Given the description of an element on the screen output the (x, y) to click on. 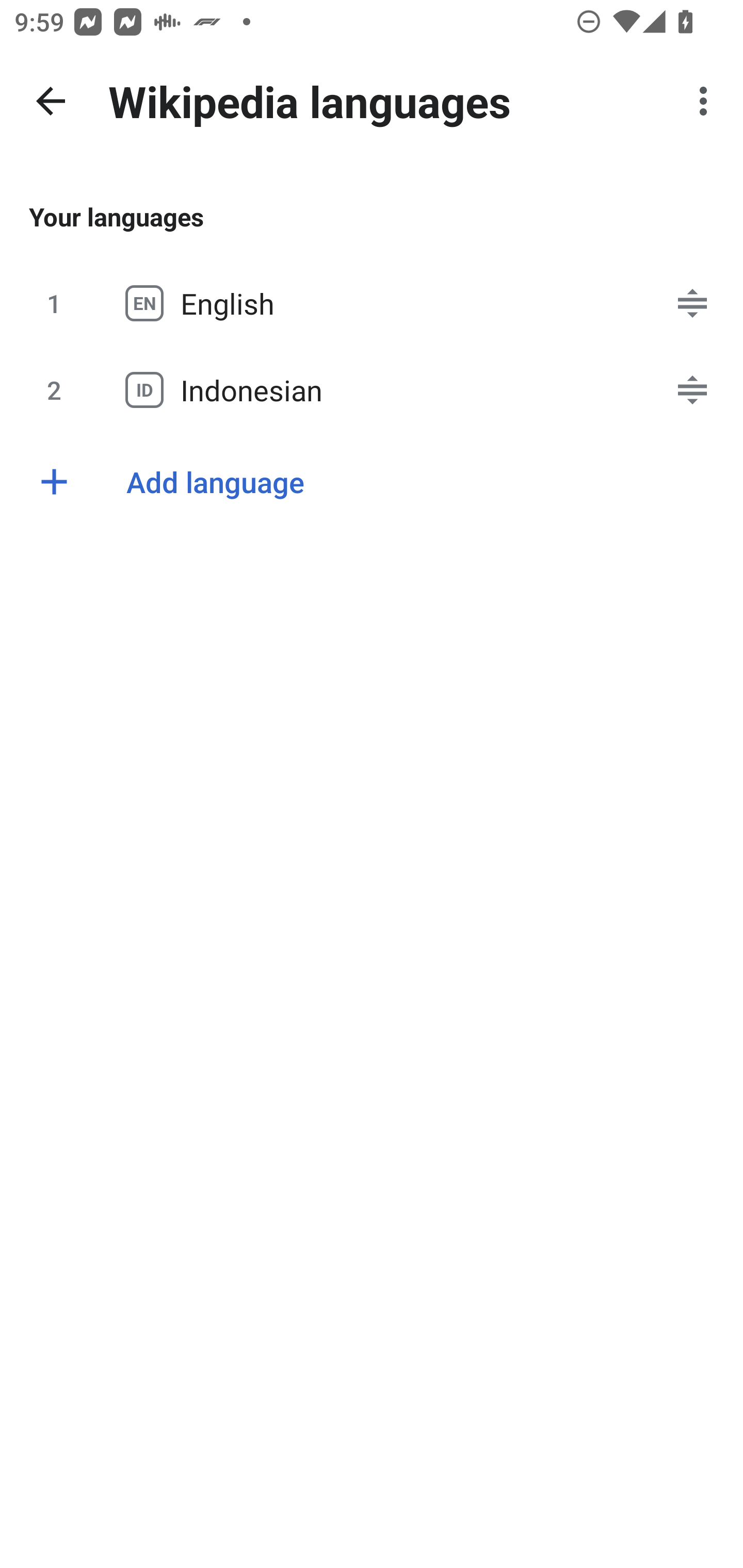
Navigate up (50, 101)
More options (706, 101)
1 EN English (371, 303)
2 ID Indonesian (371, 389)
Add language (371, 480)
